Given the description of an element on the screen output the (x, y) to click on. 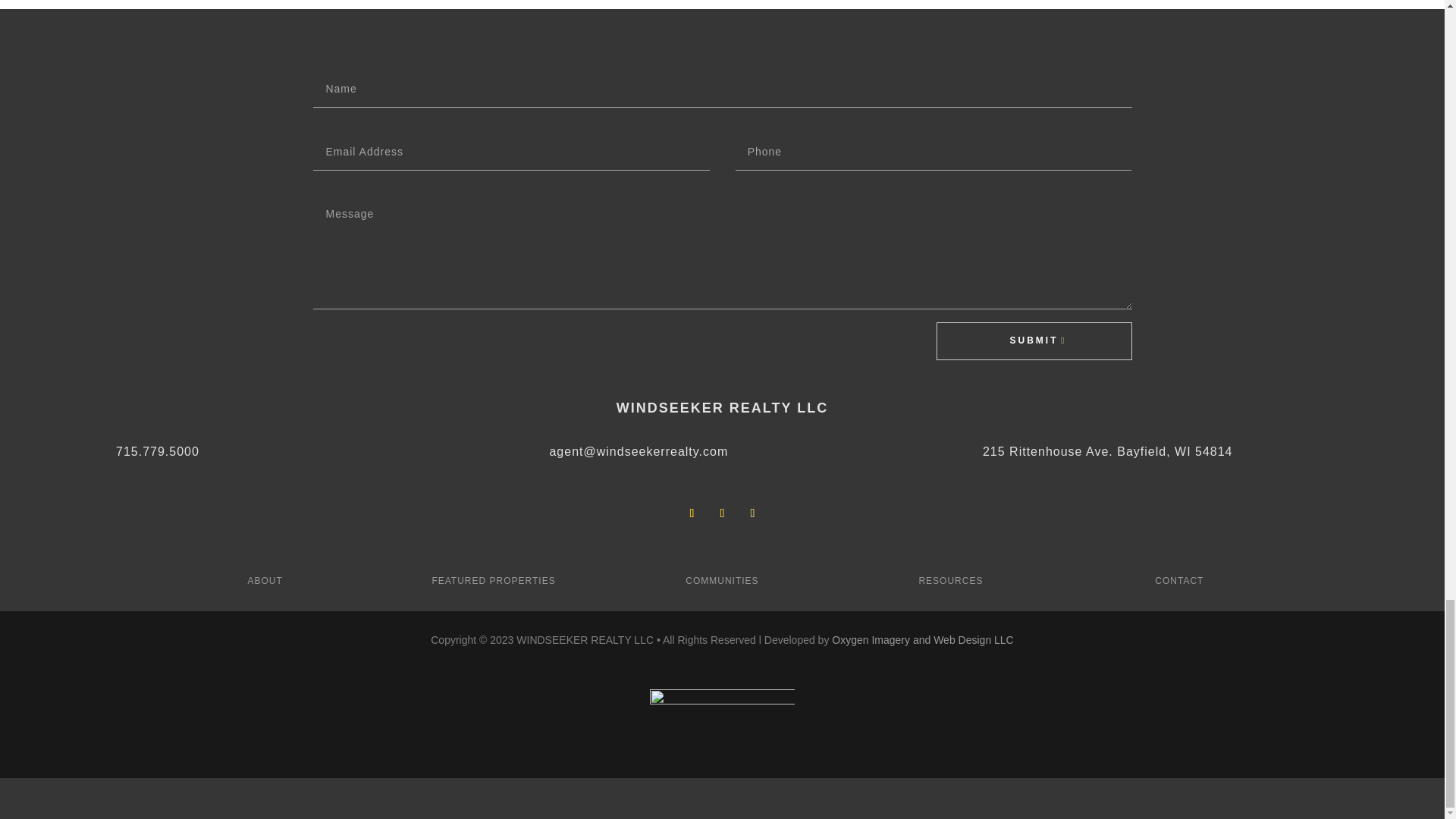
Follow on Instagram (721, 513)
Realtor-MLS-EHO (721, 713)
Follow on LinkedIn (751, 513)
Follow on Facebook (691, 513)
